Given the description of an element on the screen output the (x, y) to click on. 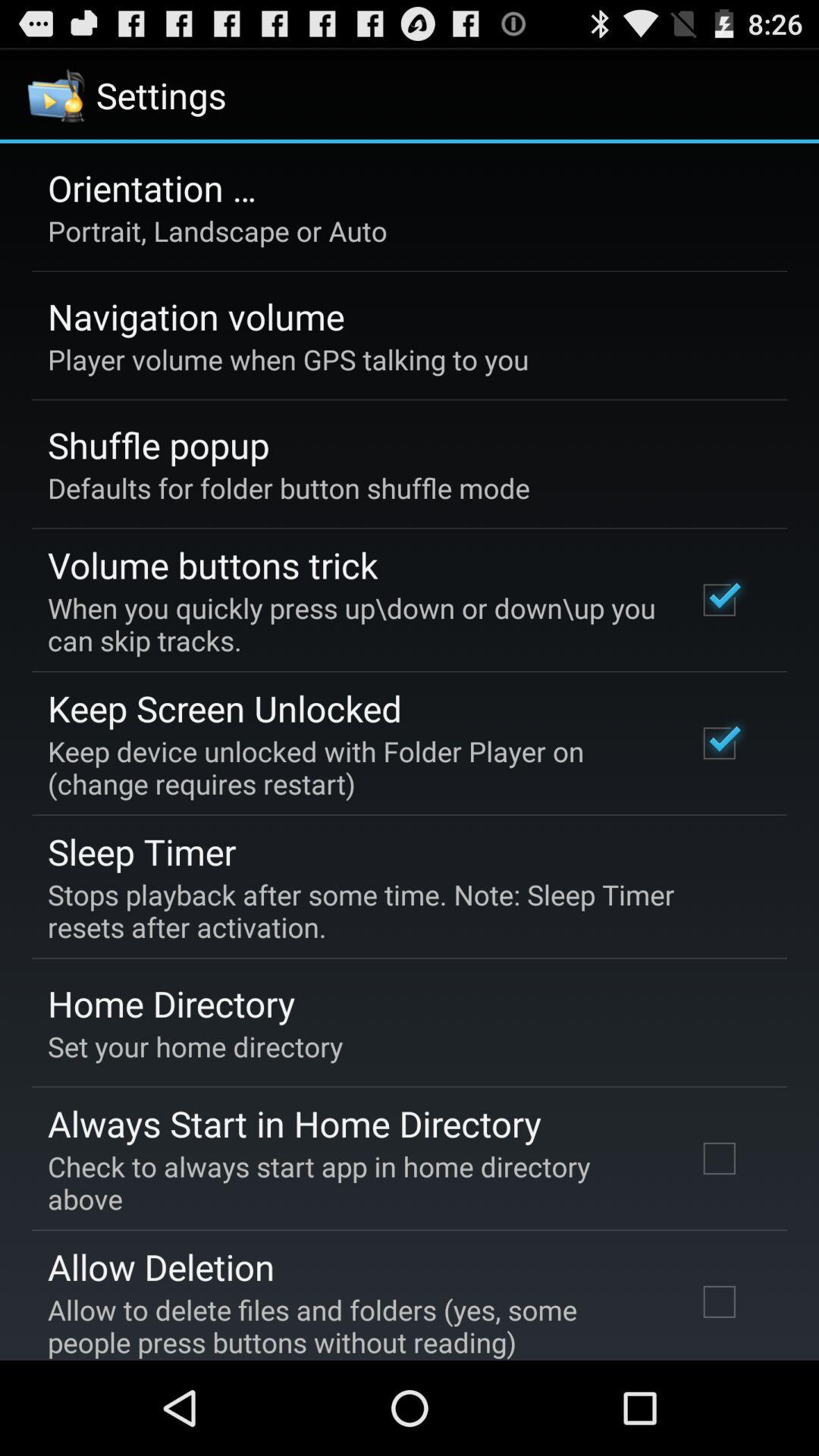
click the navigation volume icon (195, 316)
